Given the description of an element on the screen output the (x, y) to click on. 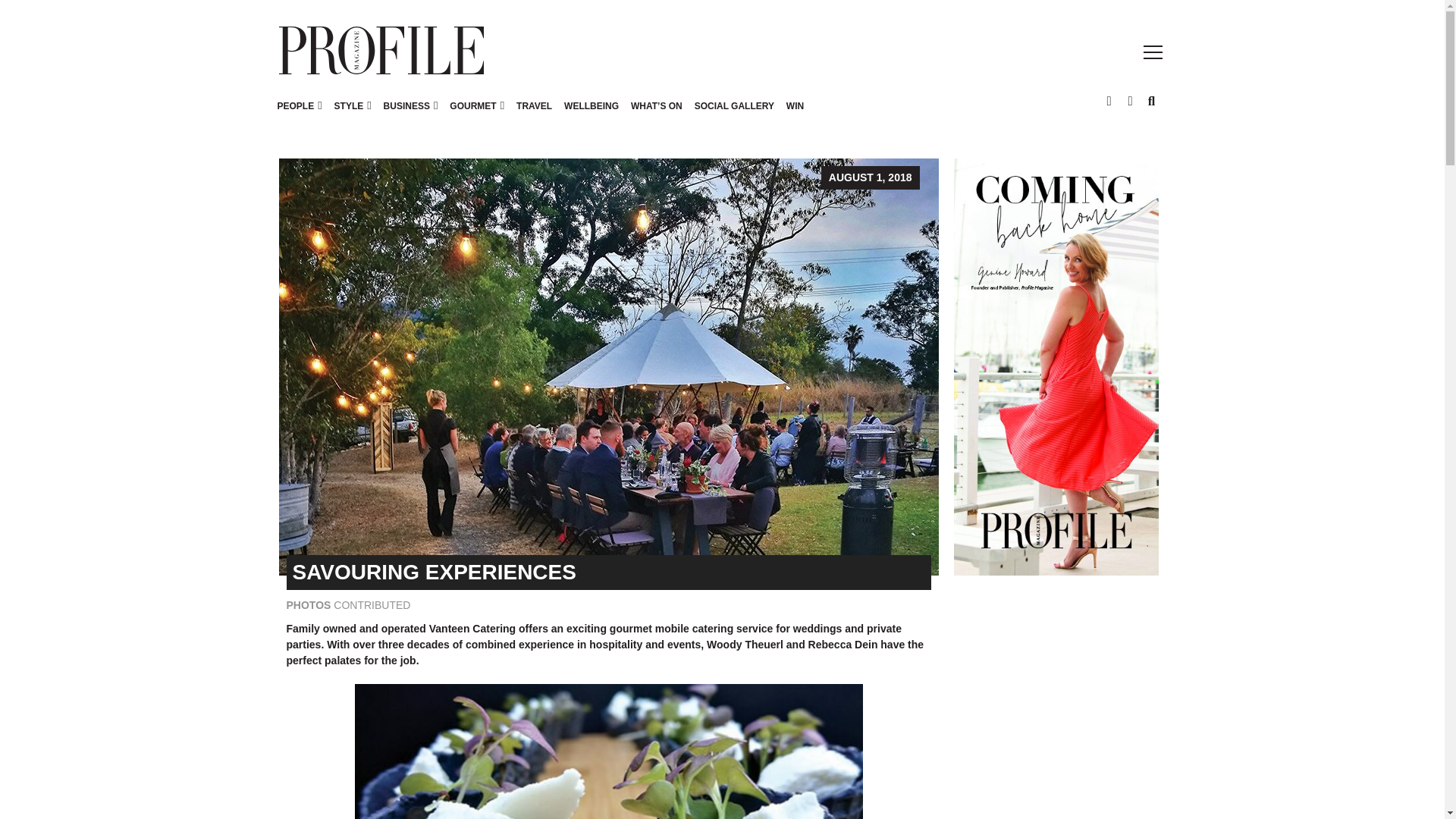
BEAUTY (401, 104)
WIN (794, 113)
BUSINESS (410, 113)
STYLE (352, 113)
GOURMET (476, 113)
TRAVEL (534, 113)
CULTURE (385, 104)
BUSINESS (405, 104)
FASHION (354, 104)
SOCIAL GALLERY (734, 113)
RECIPES (525, 104)
GOURMET (472, 104)
PEOPLE (299, 113)
WELLBEING (591, 113)
PEOPLE (295, 104)
